Given the description of an element on the screen output the (x, y) to click on. 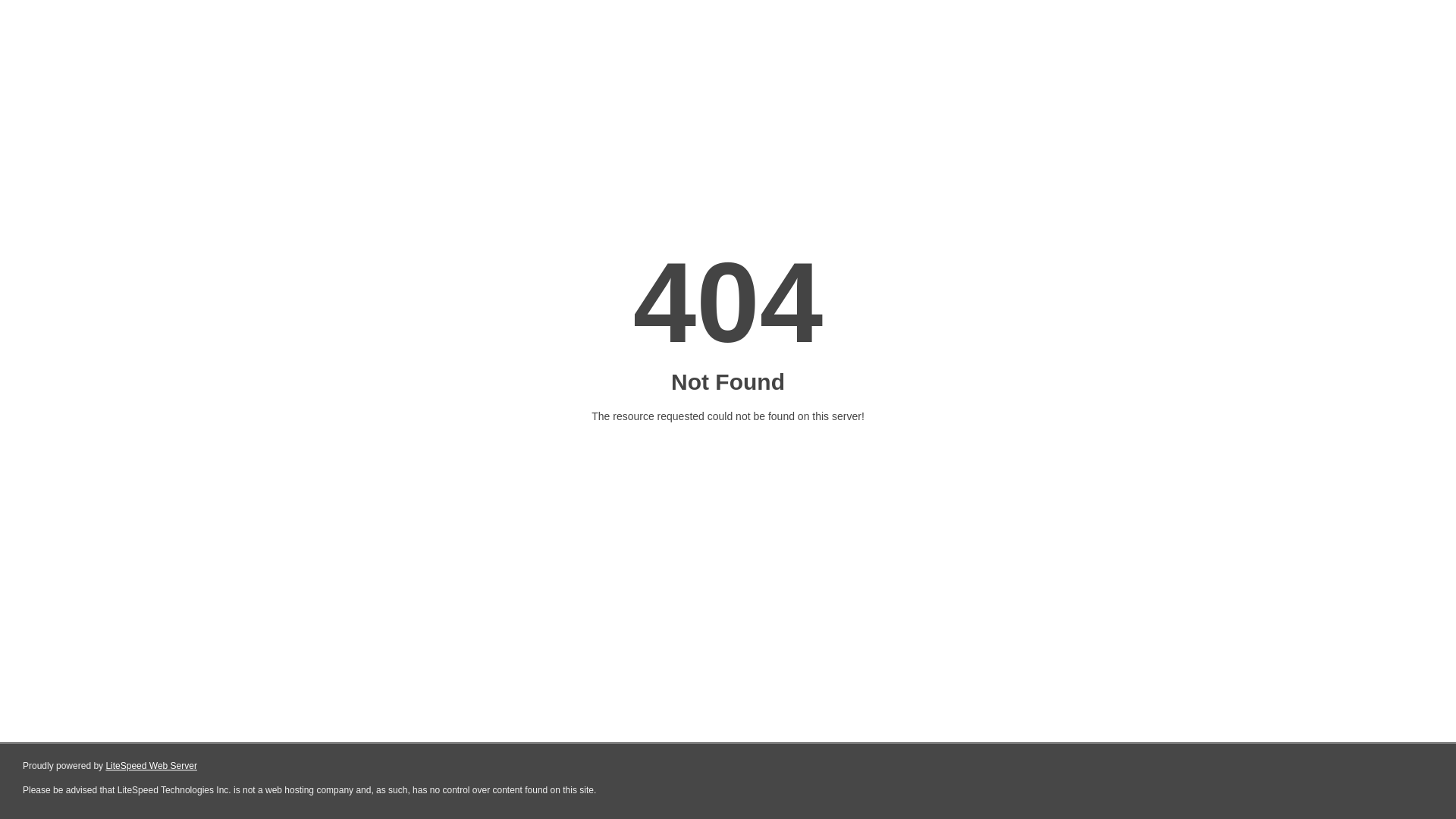
LiteSpeed Web Server Element type: text (151, 765)
